Given the description of an element on the screen output the (x, y) to click on. 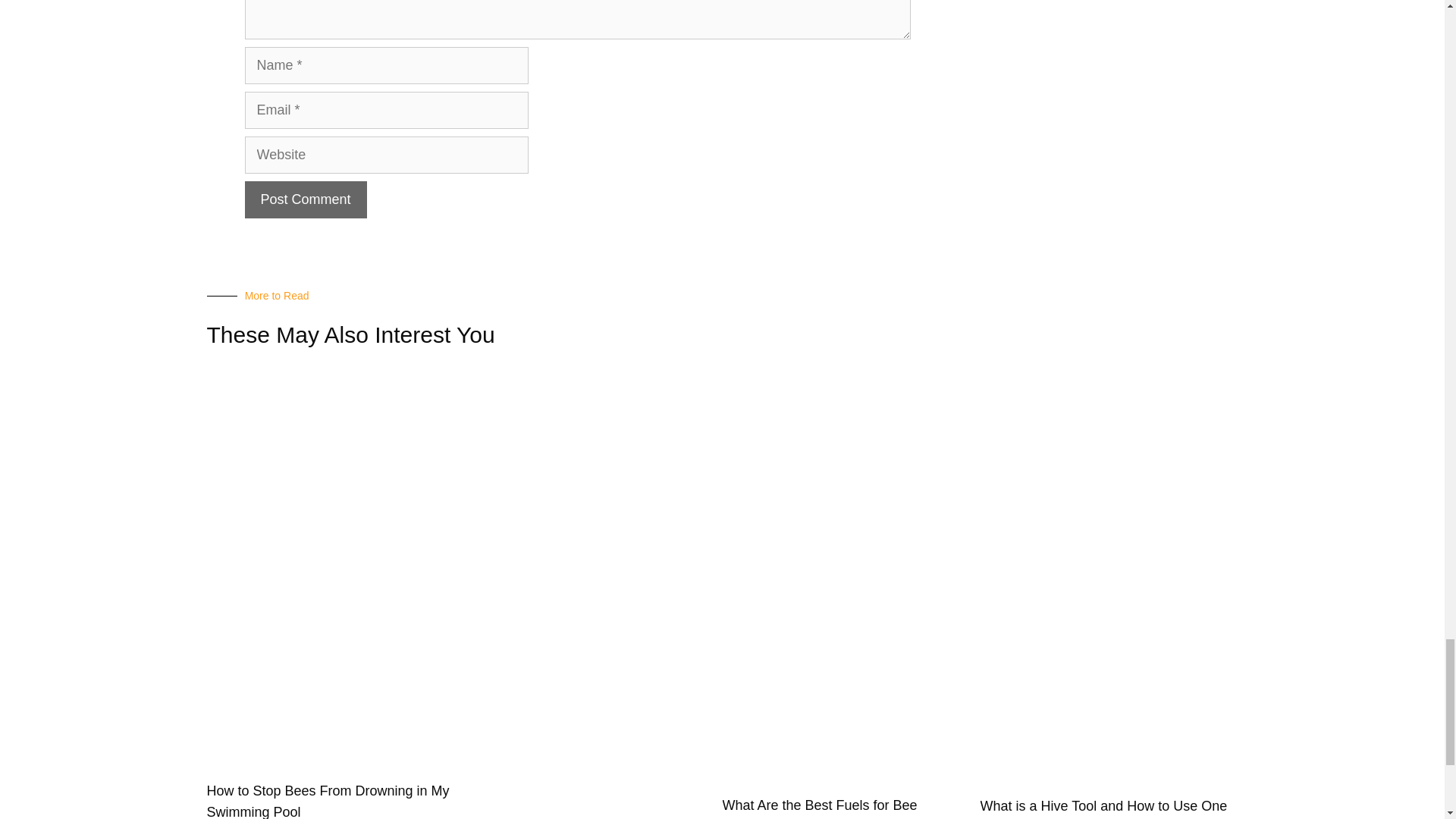
Post Comment (305, 199)
Post Comment (305, 199)
